Given the description of an element on the screen output the (x, y) to click on. 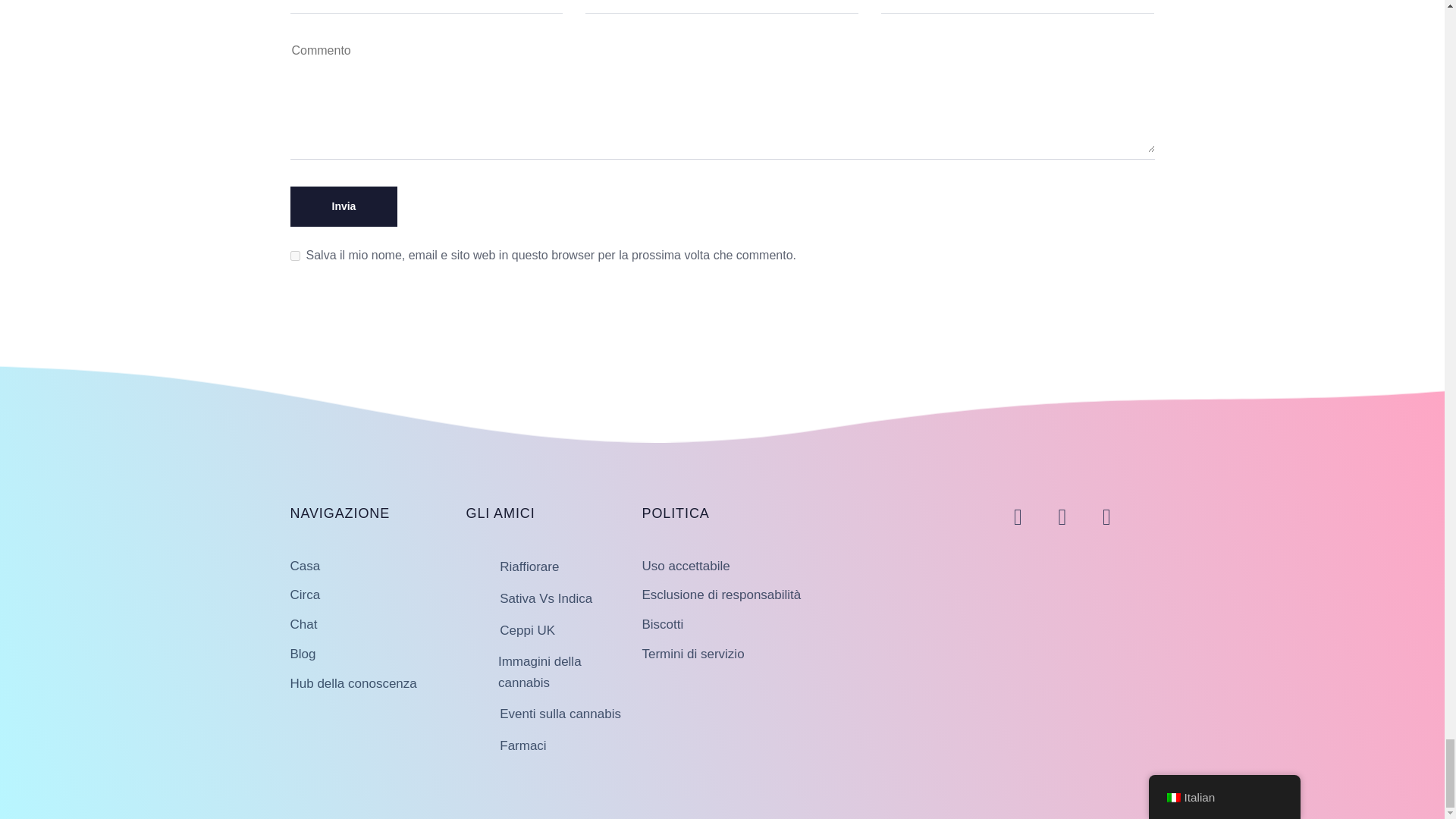
yes (294, 255)
Invia (343, 206)
